Given the description of an element on the screen output the (x, y) to click on. 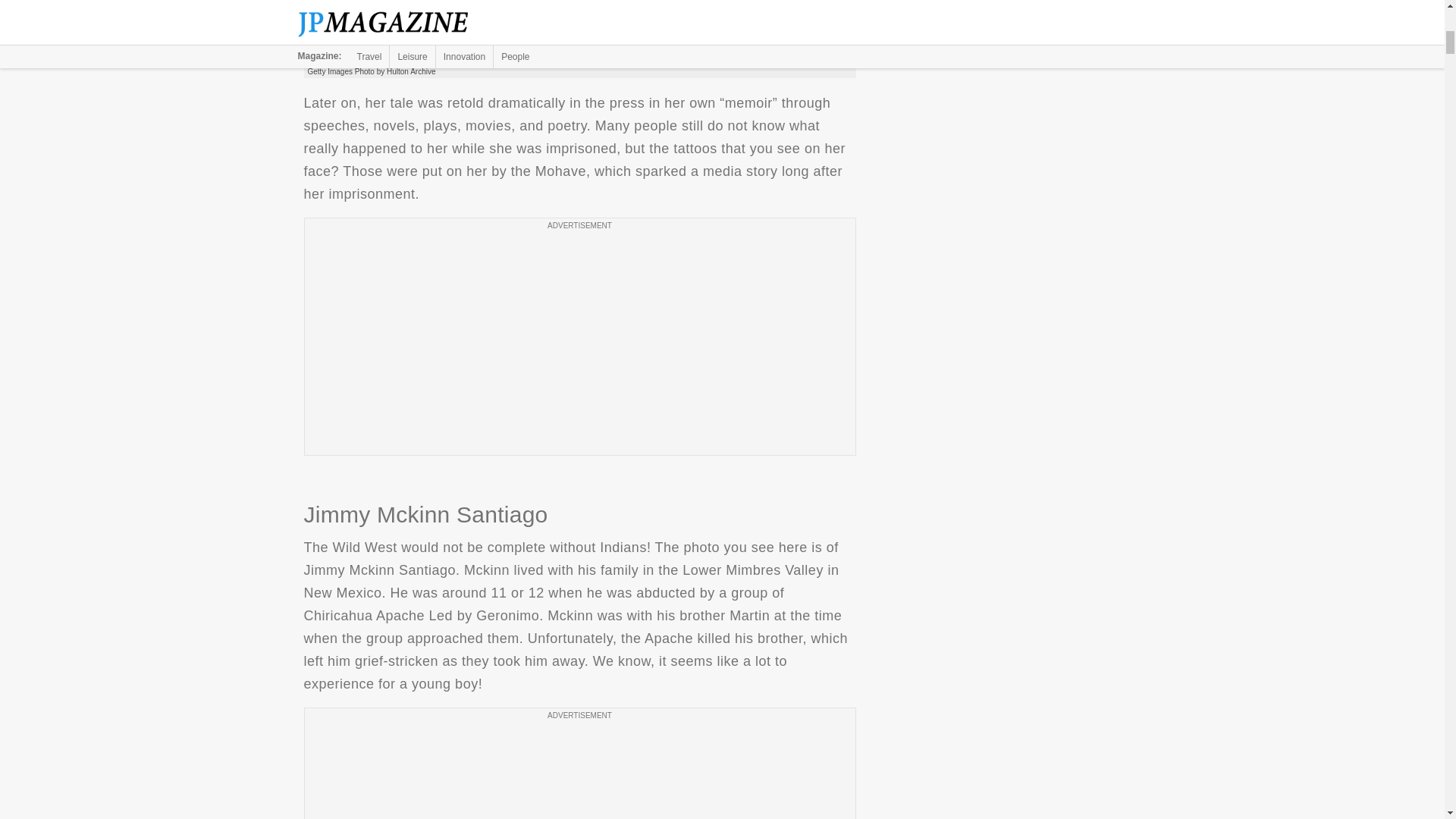
Olive Ann Oatman (579, 32)
